Given the description of an element on the screen output the (x, y) to click on. 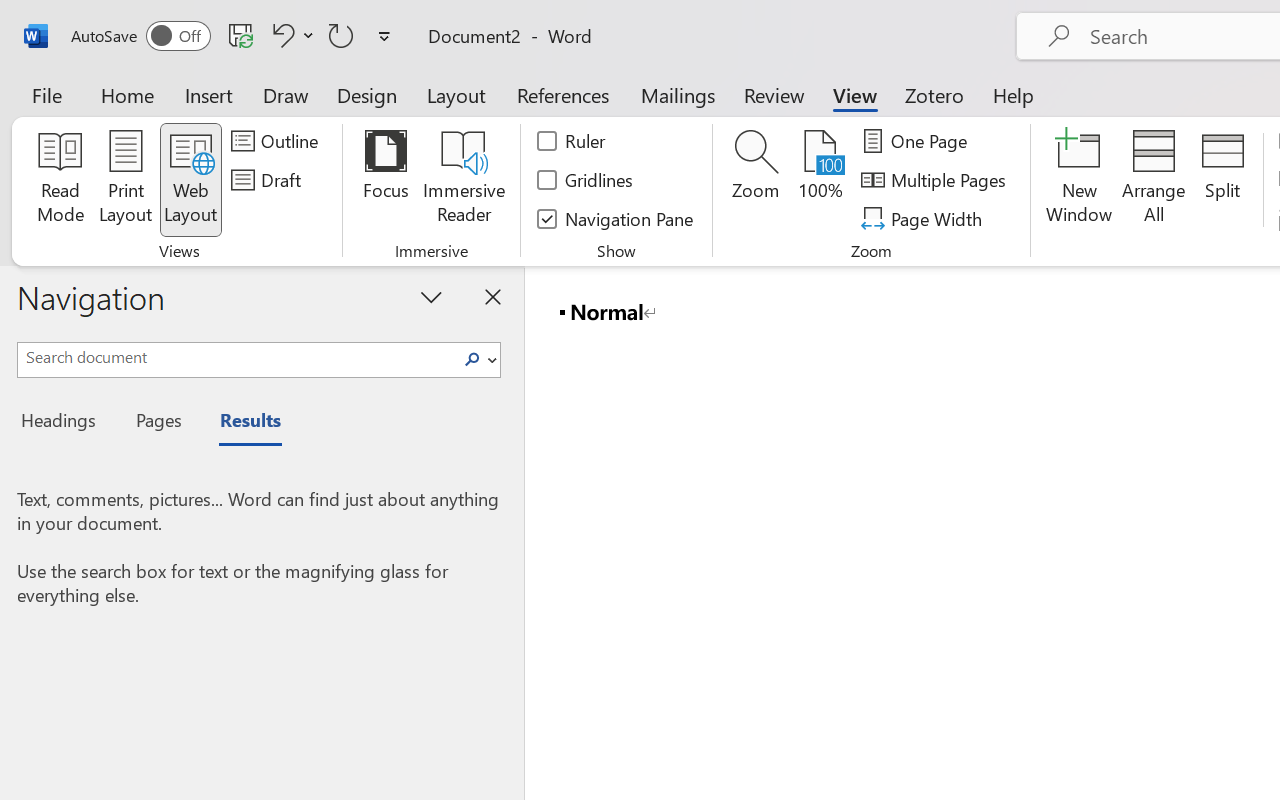
Pages (156, 423)
Ruler (572, 141)
Undo <ApplyStyleToDoc>b__0 (290, 35)
New Window (1079, 179)
Page Width (924, 218)
Task Pane Options (431, 296)
Split (1222, 179)
Arrange All (1153, 179)
Undo <ApplyStyleToDoc>b__0 (280, 35)
Zotero (933, 94)
Insert (209, 94)
